Given the description of an element on the screen output the (x, y) to click on. 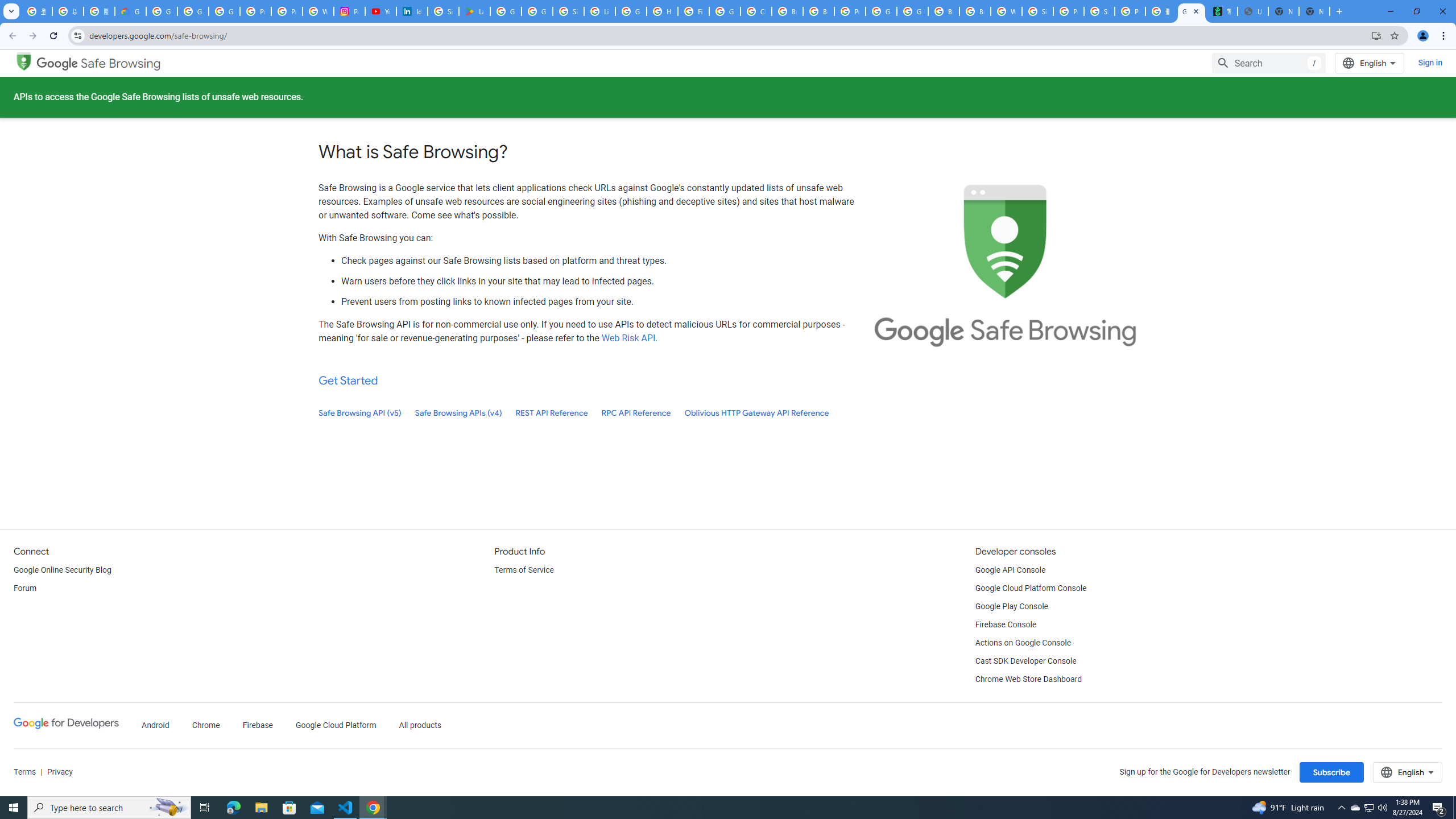
Firebase (257, 725)
Chrome Web Store Dashboard (1028, 679)
Google API Console (1010, 570)
Google Play Console (1011, 606)
RPC API Reference (635, 412)
Get Started (348, 380)
